Given the description of an element on the screen output the (x, y) to click on. 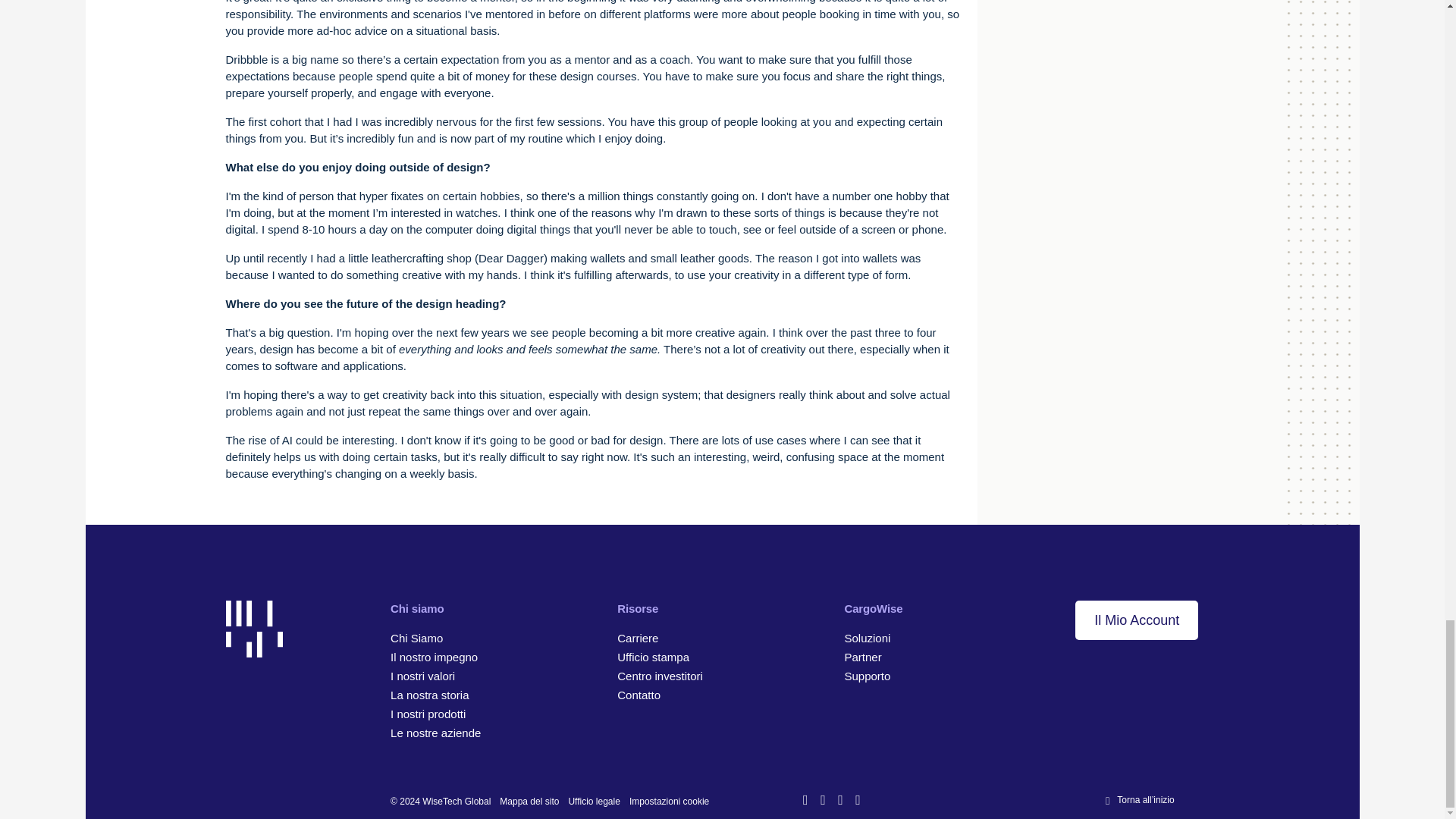
Scopri CargoWise (866, 637)
Join us (637, 637)
Facebook (824, 801)
Supporto (866, 675)
Chi Siamo (416, 637)
Cookie Settings (668, 801)
Legal (593, 801)
Our commitments (433, 656)
About us (416, 637)
CargoWise (873, 608)
Our history (429, 694)
Contatto (639, 694)
Sitemap (529, 801)
LinkedIn (806, 801)
Our businesses (435, 732)
